Given the description of an element on the screen output the (x, y) to click on. 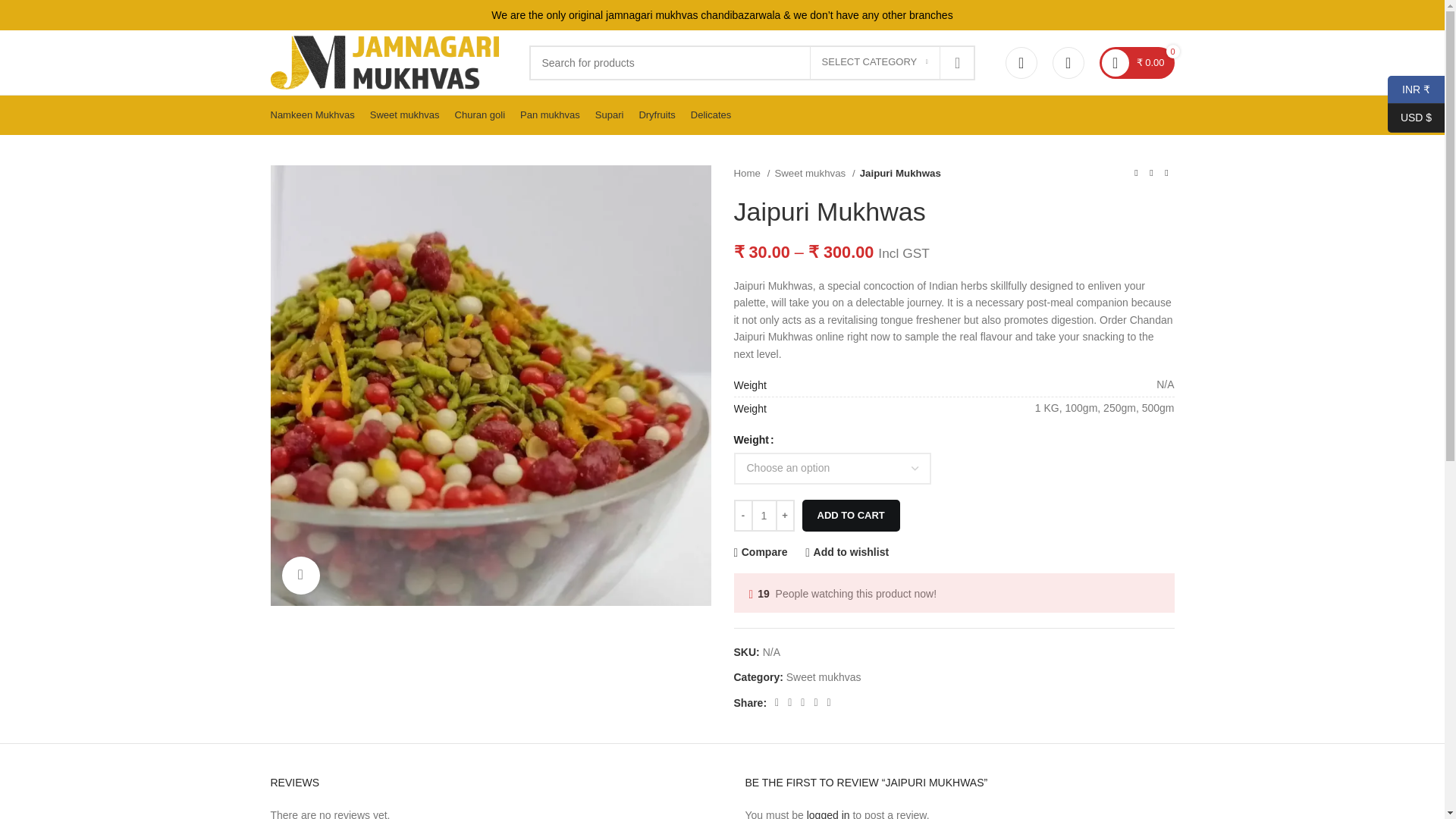
Supari (609, 114)
Sweet mukhvas (404, 114)
Compare (760, 552)
Search for products (752, 62)
Add to wishlist (846, 552)
Sweet mukhvas (823, 676)
Shopping cart (1137, 61)
Sweet mukhvas (814, 172)
Namkeen Mukhvas (311, 114)
